Given the description of an element on the screen output the (x, y) to click on. 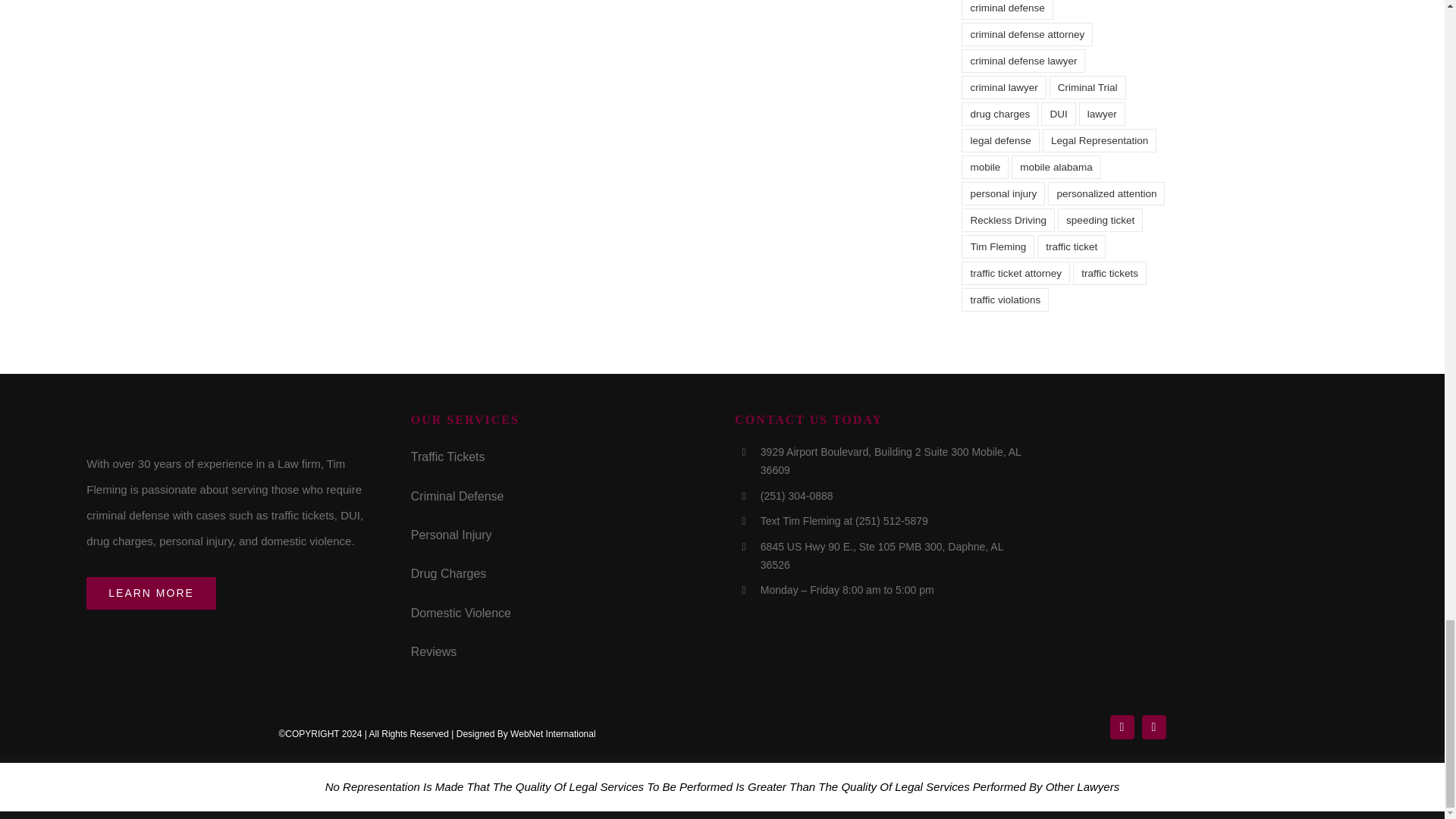
Tim Fleming Law Firm (199, 423)
Facebook (1121, 726)
LinkedIn (1153, 726)
